Given the description of an element on the screen output the (x, y) to click on. 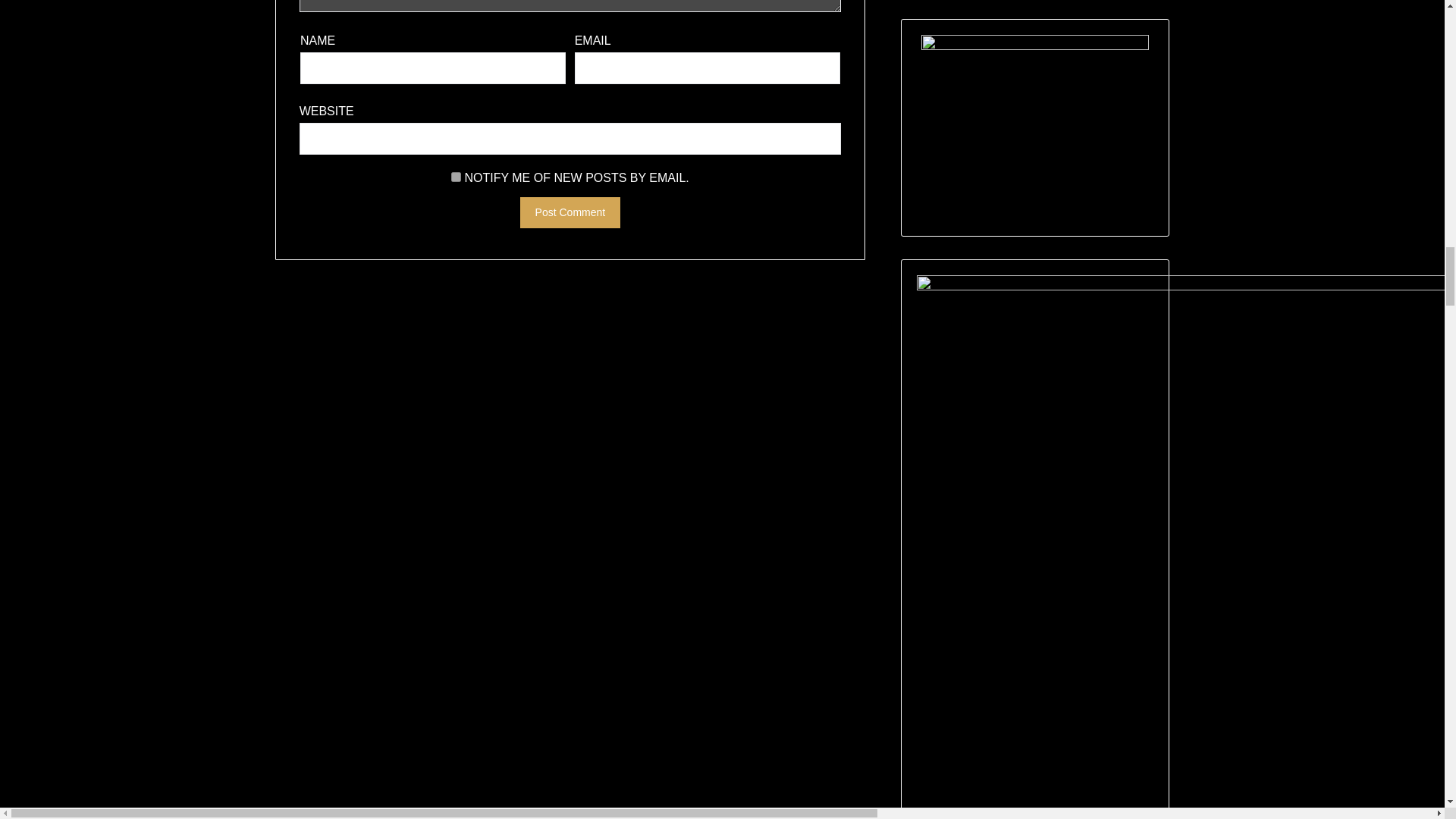
Post Comment (570, 212)
WRSA Radio Podcast- The Voice of Free America! (1034, 127)
Post Comment (570, 212)
subscribe (456, 176)
